Given the description of an element on the screen output the (x, y) to click on. 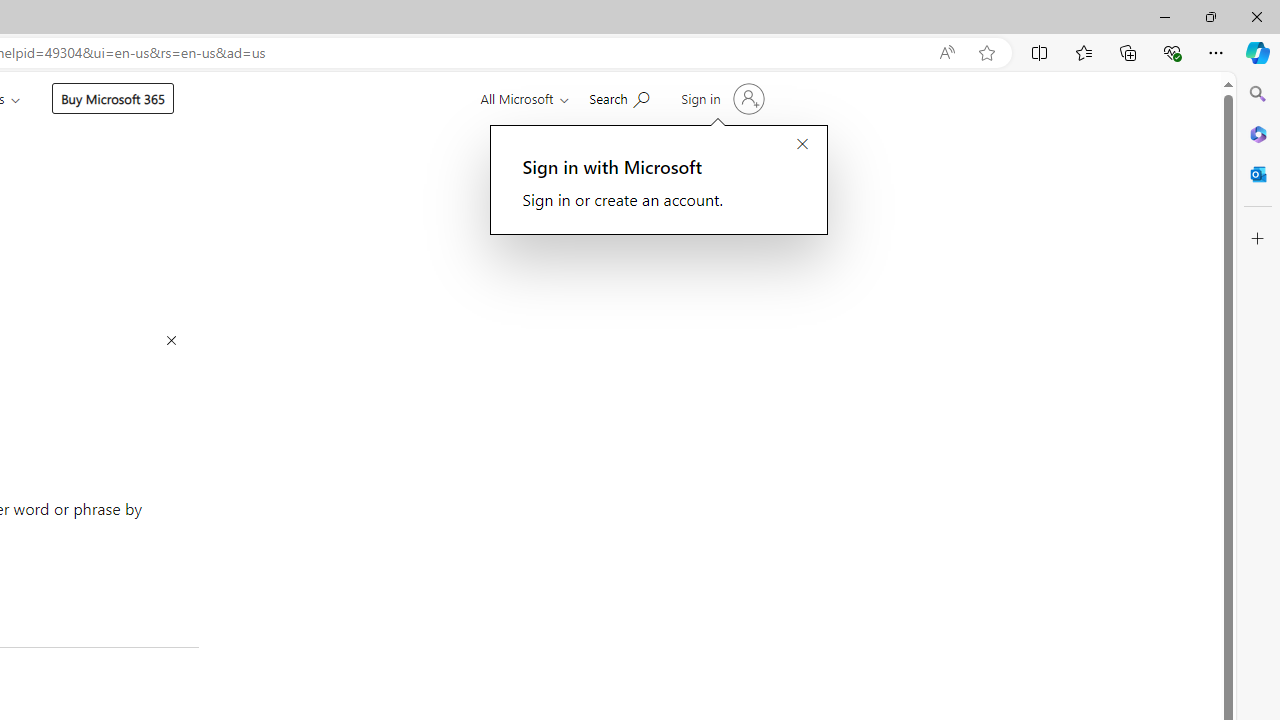
Buy Microsoft 365 (113, 97)
Close callout prompt. (802, 145)
Collections (1128, 52)
Read aloud this page (Ctrl+Shift+U) (946, 53)
Add this page to favorites (Ctrl+D) (986, 53)
Sign in to your account (721, 98)
Customize (1258, 239)
Split screen (1039, 52)
Favorites (1083, 52)
Close Ad (171, 341)
Search for help (619, 97)
Microsoft 365 (1258, 133)
Restore (1210, 16)
